Given the description of an element on the screen output the (x, y) to click on. 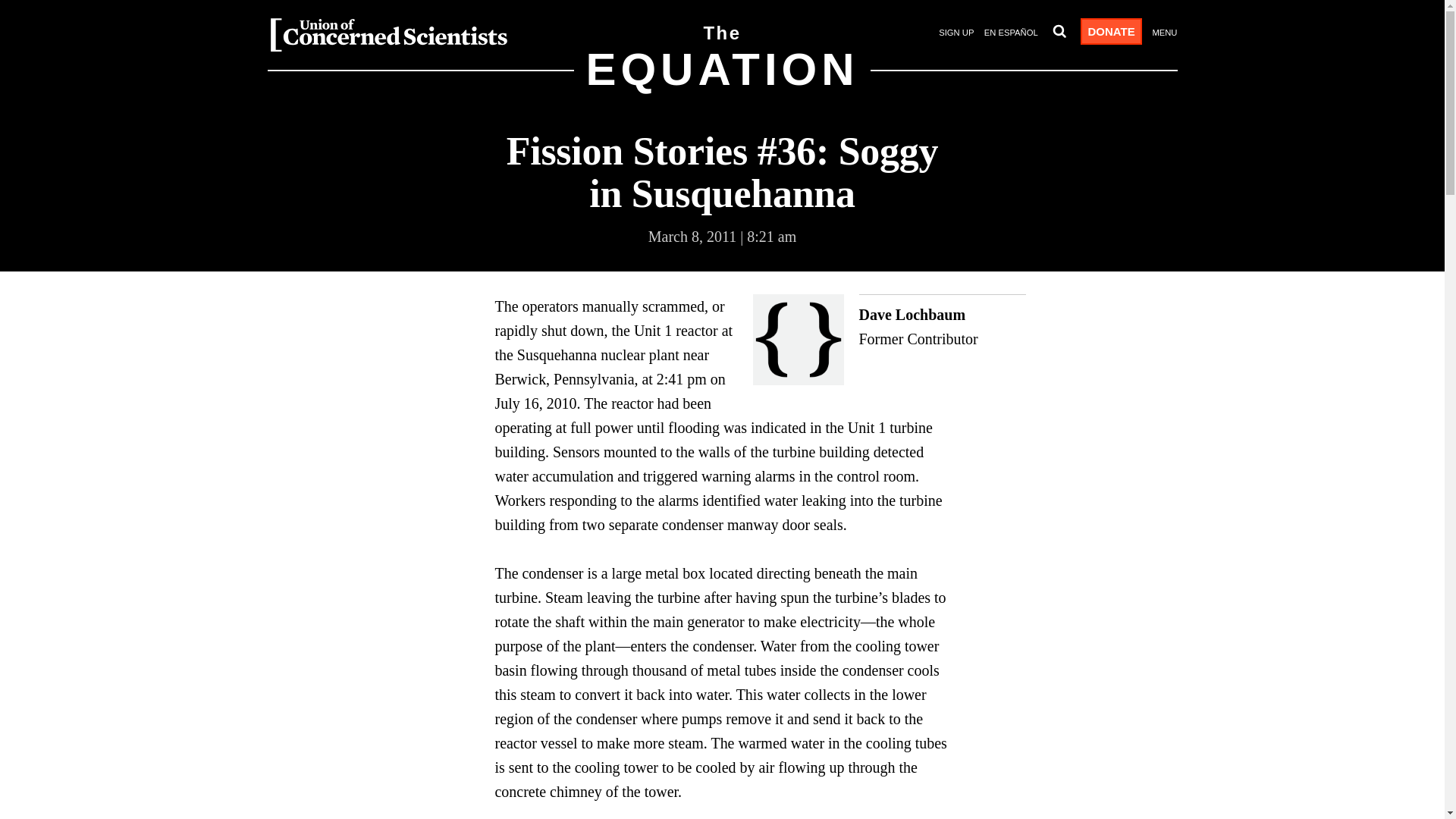
SIGN UP (956, 32)
MENU (888, 339)
DONATE (721, 80)
